Given the description of an element on the screen output the (x, y) to click on. 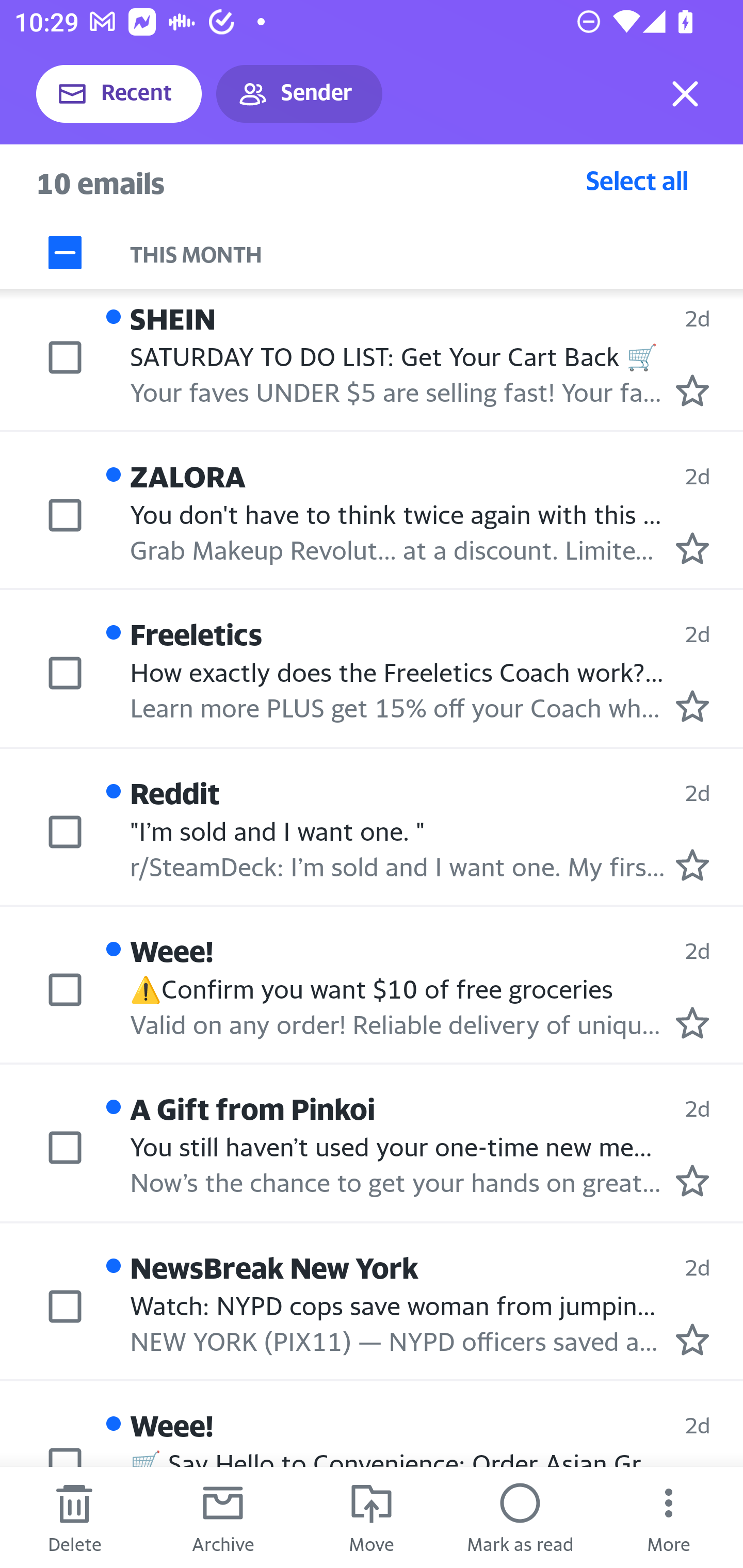
Sender (299, 93)
Exit selection mode (684, 93)
Select all (637, 180)
Mark as starred. (692, 391)
Mark as starred. (692, 547)
Mark as starred. (692, 706)
Mark as starred. (692, 864)
Mark as starred. (692, 1023)
Mark as starred. (692, 1179)
Mark as starred. (692, 1339)
Delete (74, 1517)
Archive (222, 1517)
Move (371, 1517)
Mark as read (519, 1517)
More (668, 1517)
